Given the description of an element on the screen output the (x, y) to click on. 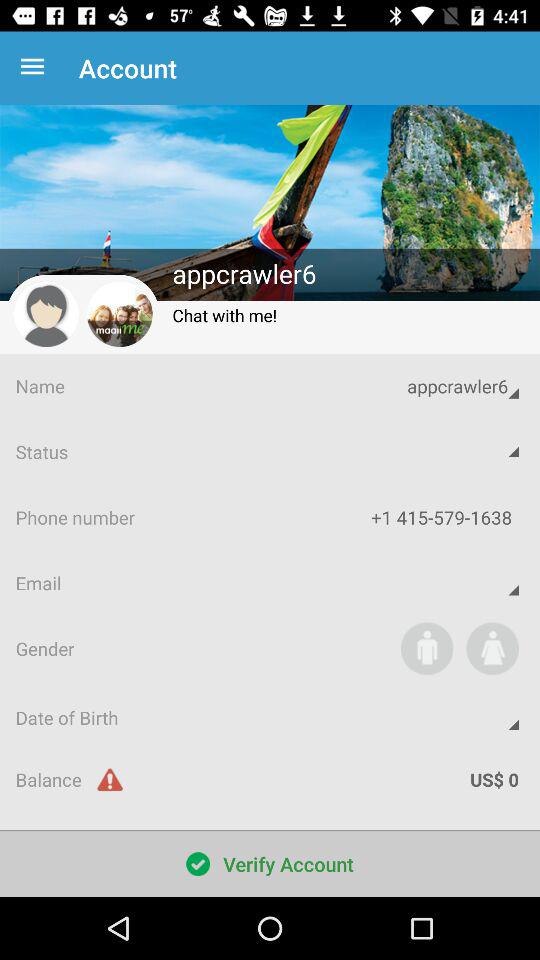
click the item to the left of the account item (36, 68)
